Given the description of an element on the screen output the (x, y) to click on. 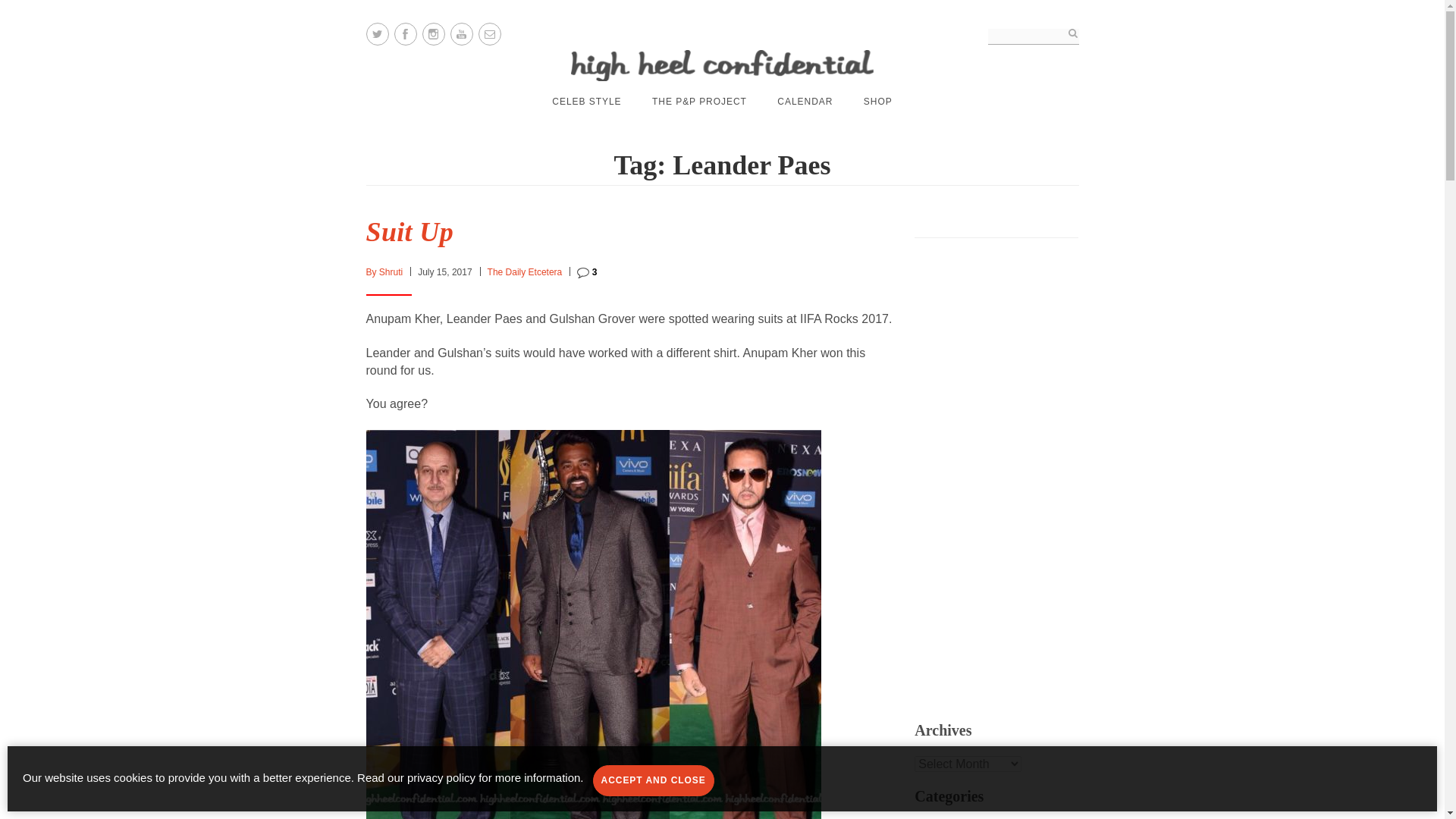
CELEB STYLE (586, 101)
The Daily Etcetera (524, 271)
SHOP (877, 101)
CALENDAR (804, 101)
By Shruti (384, 271)
Suit Up (408, 232)
3 (586, 271)
High Heel Confidential (721, 65)
